Given the description of an element on the screen output the (x, y) to click on. 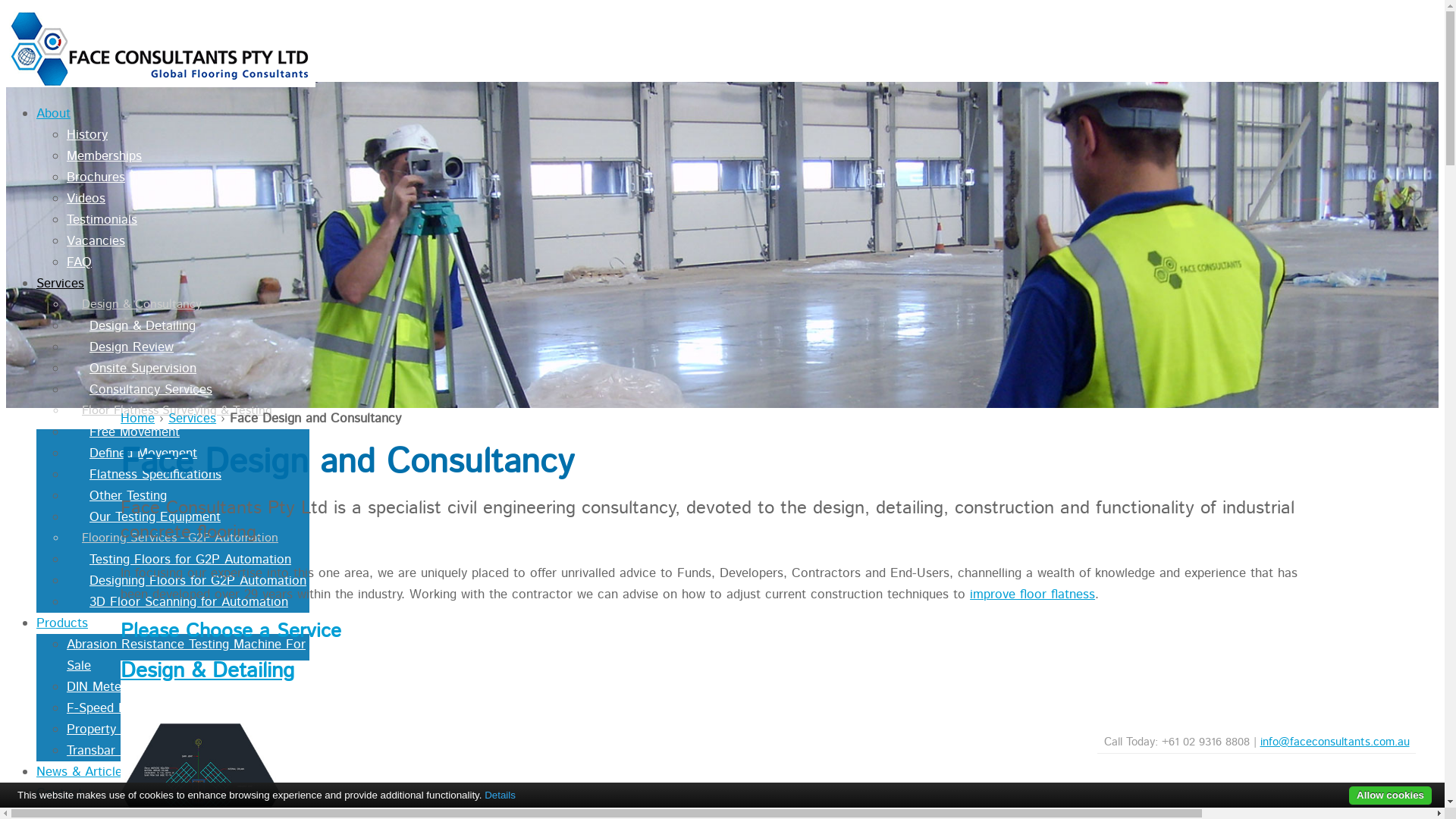
Consultancy Services Element type: text (139, 389)
Transbar Meter Element type: text (109, 750)
Defined Movement Element type: text (131, 453)
Free Movement Element type: text (122, 432)
Other Testing Element type: text (116, 495)
News & Articles Element type: text (82, 771)
Memberships Element type: text (103, 156)
Home Element type: text (137, 418)
Details Element type: text (499, 794)
Design Review Element type: text (119, 347)
FAQ Element type: text (78, 262)
Services Element type: text (192, 418)
Design & Detailing Element type: text (130, 325)
DIN Meter For Sale Element type: text (122, 686)
Allow cookies Element type: text (1390, 795)
Videos Element type: text (85, 198)
History Element type: text (86, 134)
Our Testing Equipment Element type: text (143, 517)
Design & Consultancy Element type: text (133, 304)
Property II Meter For Sale Element type: text (141, 729)
improve floor flatness Element type: text (1032, 594)
Designing Floors for G2P Automation Element type: text (186, 580)
Services Element type: text (60, 283)
Testing Floors for G2P Automation Element type: text (178, 559)
Testimonials Element type: text (101, 219)
Onsite Supervision Element type: text (131, 368)
3D Floor Scanning for Automation Element type: text (177, 602)
Flooring Services - G2P Automation Element type: text (172, 537)
Brochures Element type: text (95, 177)
Design & Detailing Element type: text (207, 670)
F-Speed Reader For Sale Element type: text (139, 708)
Flatness Specifications Element type: text (143, 474)
Contact Element type: text (59, 793)
About Element type: text (53, 113)
Floor Flatness Surveying & Testing Element type: text (169, 410)
Products Element type: text (61, 623)
info@faceconsultants.com.au Element type: text (1334, 741)
Toggle navigation Element type: text (51, 32)
Abrasion Resistance Testing Machine For Sale Element type: text (185, 654)
Vacancies Element type: text (95, 241)
